Given the description of an element on the screen output the (x, y) to click on. 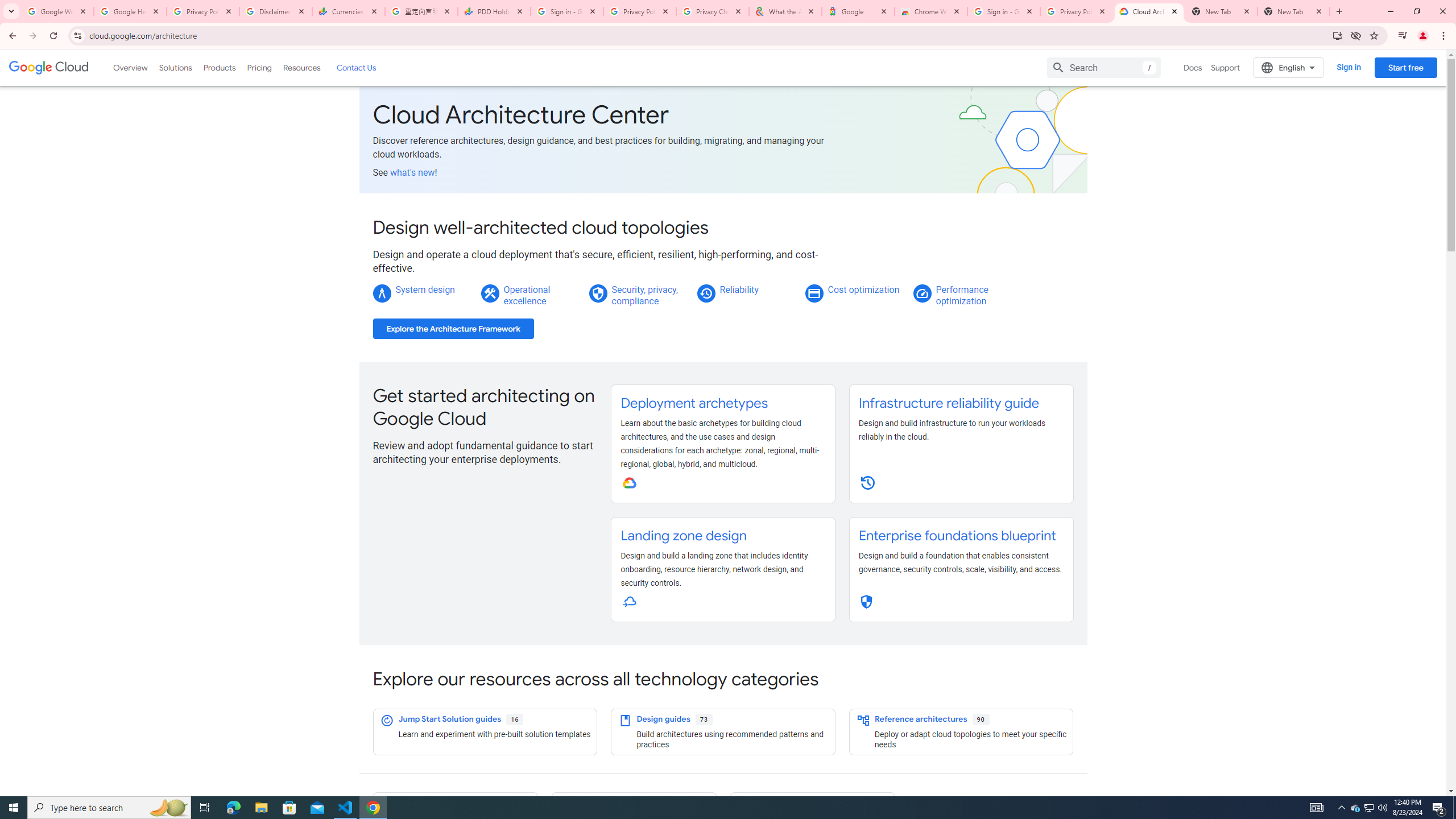
Pricing (259, 67)
Sign in - Google Accounts (566, 11)
Explore the Architecture Framework (453, 328)
Products (218, 67)
Privacy Checkup (712, 11)
